Given the description of an element on the screen output the (x, y) to click on. 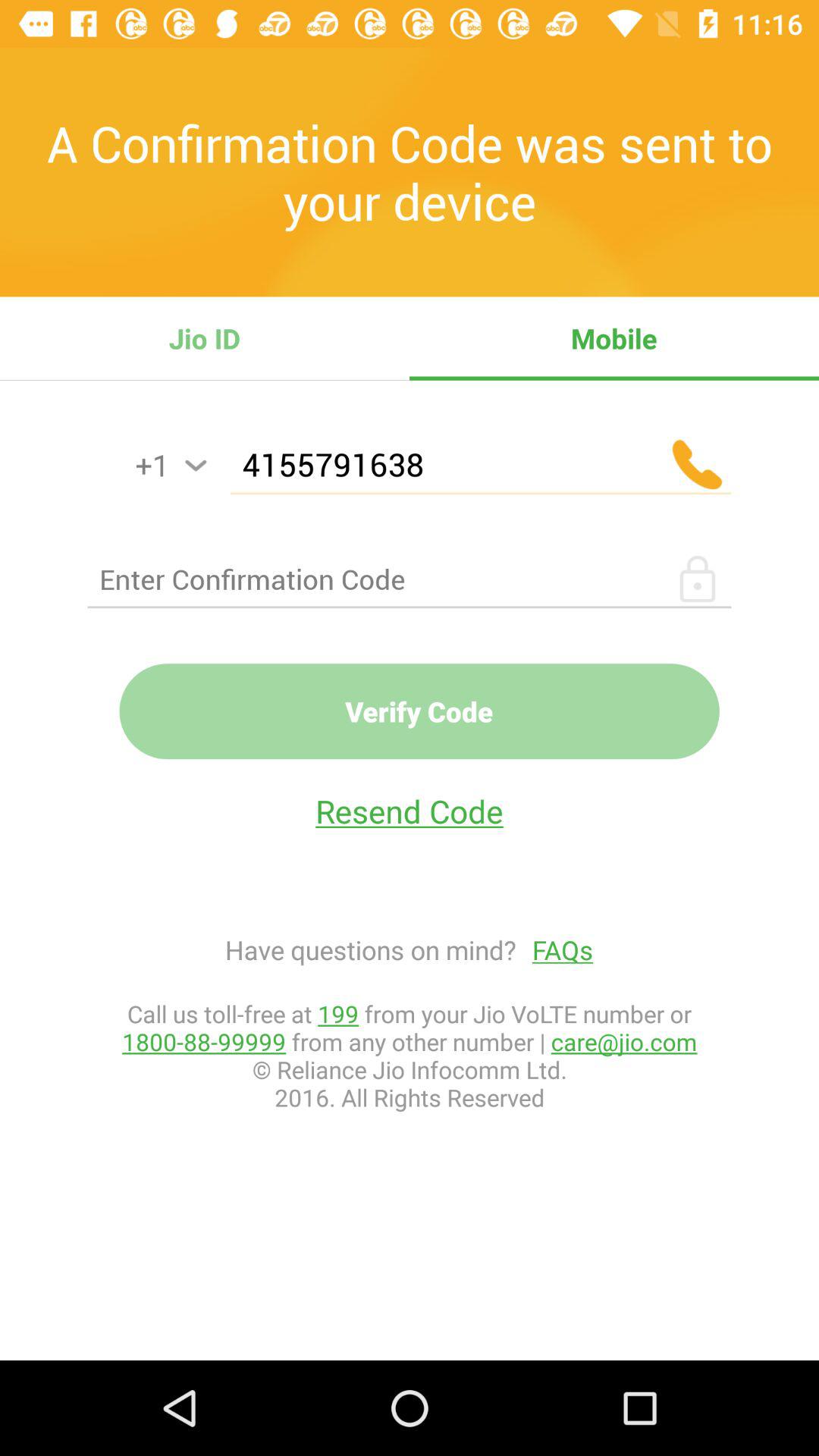
select country code (195, 465)
